Given the description of an element on the screen output the (x, y) to click on. 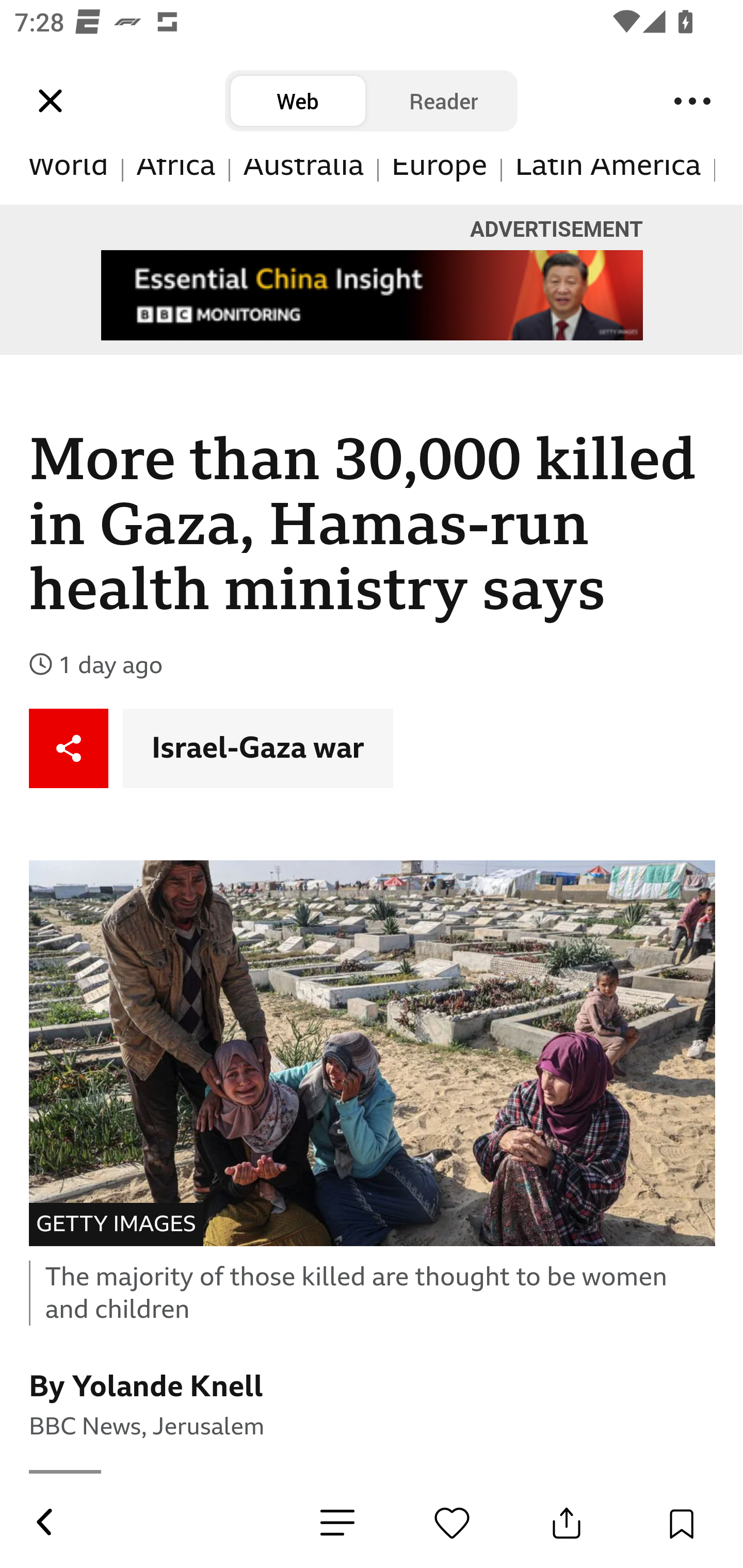
Leading Icon (50, 101)
Reader (443, 101)
Menu (692, 101)
World (69, 181)
Africa (176, 181)
Australia (303, 181)
Europe (439, 181)
Latin America (608, 181)
Share (68, 748)
Israel-Gaza war (257, 748)
Back Button (43, 1523)
News Detail Emotion (451, 1523)
Share Button (566, 1523)
Save Button (680, 1523)
News Detail Emotion (337, 1523)
